Given the description of an element on the screen output the (x, y) to click on. 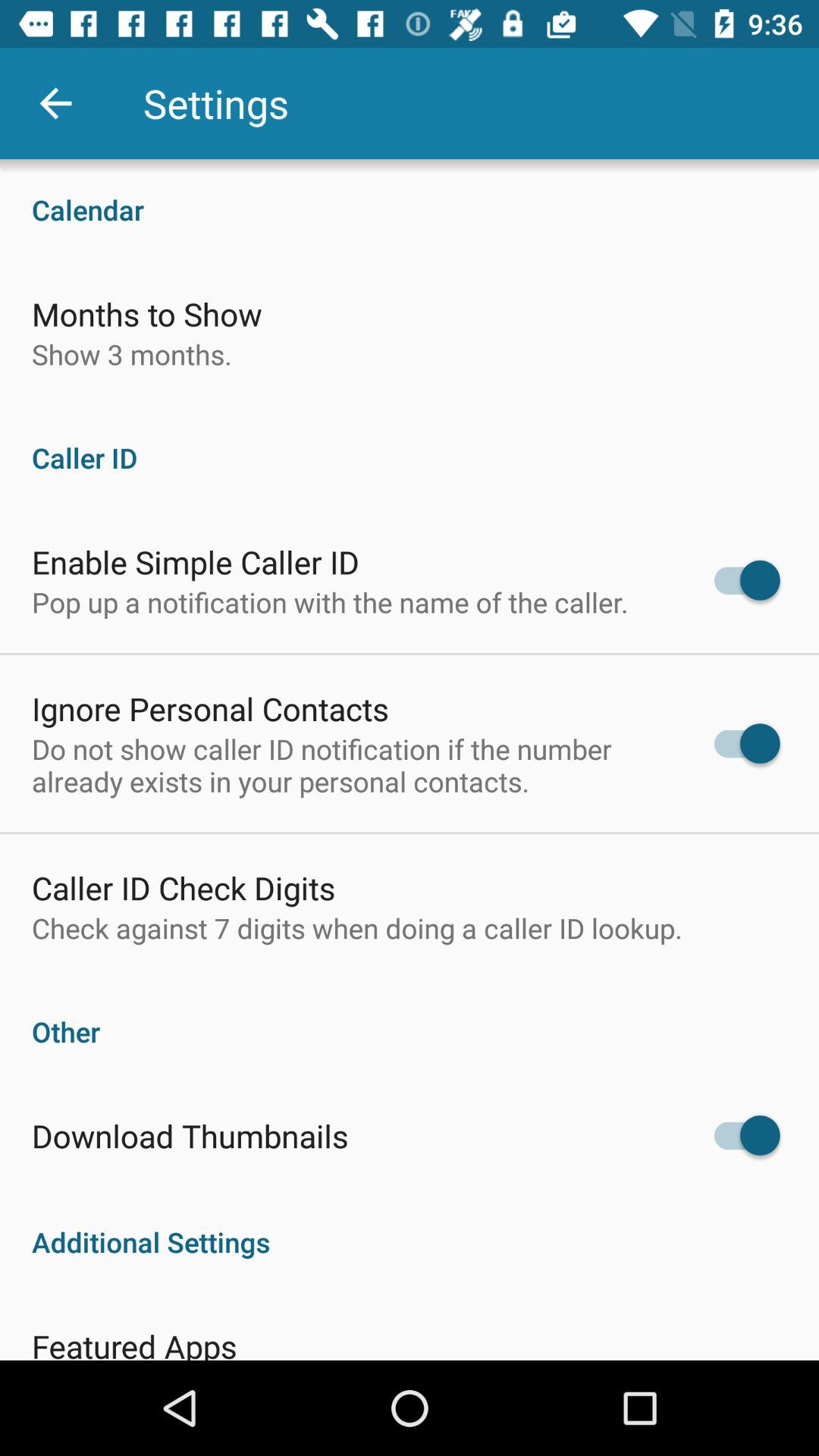
click icon above the calendar icon (55, 103)
